Given the description of an element on the screen output the (x, y) to click on. 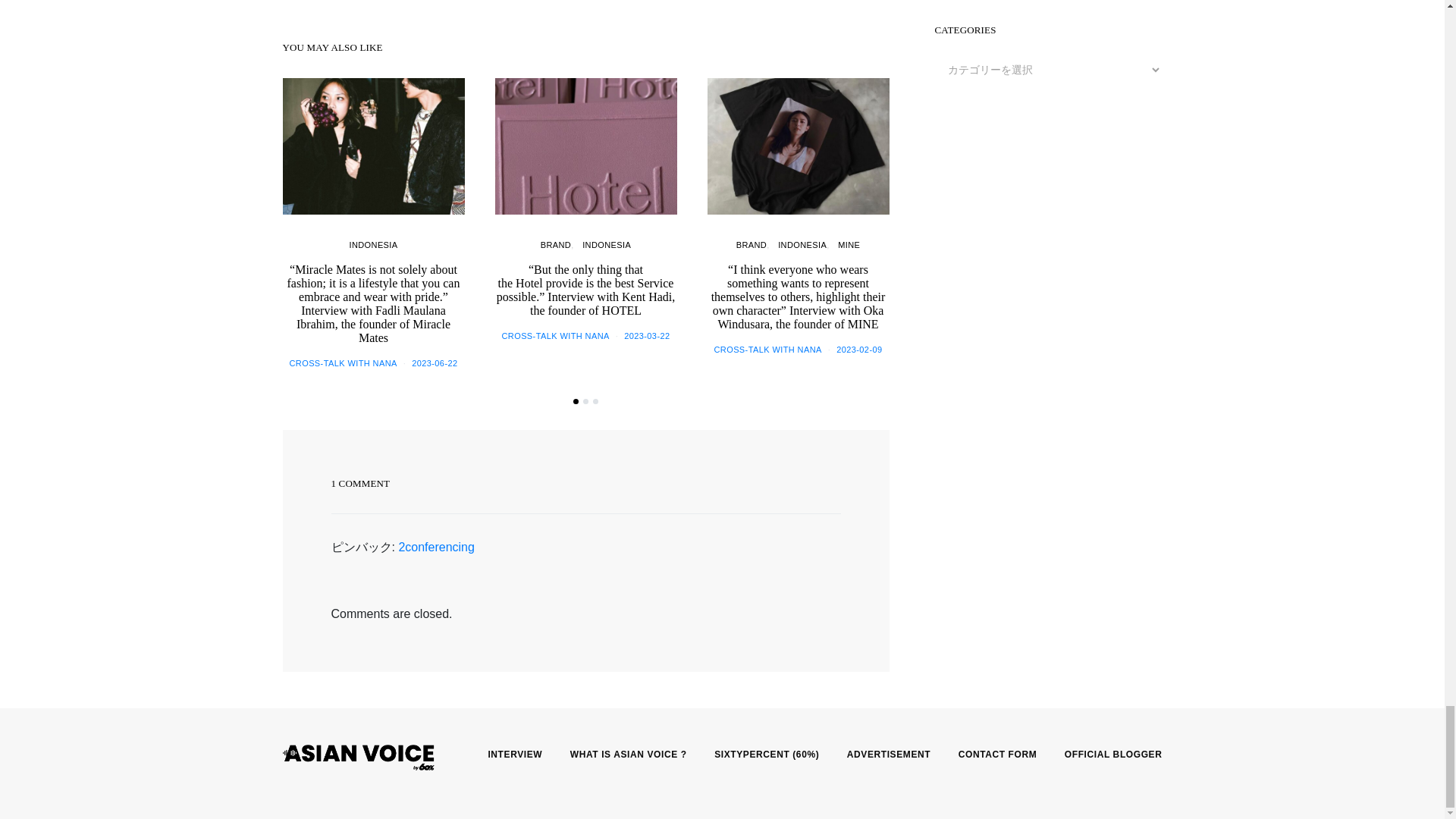
View all posts by Cross-talk with NANA (342, 362)
View all posts by Cross-talk with NANA (554, 335)
View all posts by Cross-talk with NANA (767, 348)
